Given the description of an element on the screen output the (x, y) to click on. 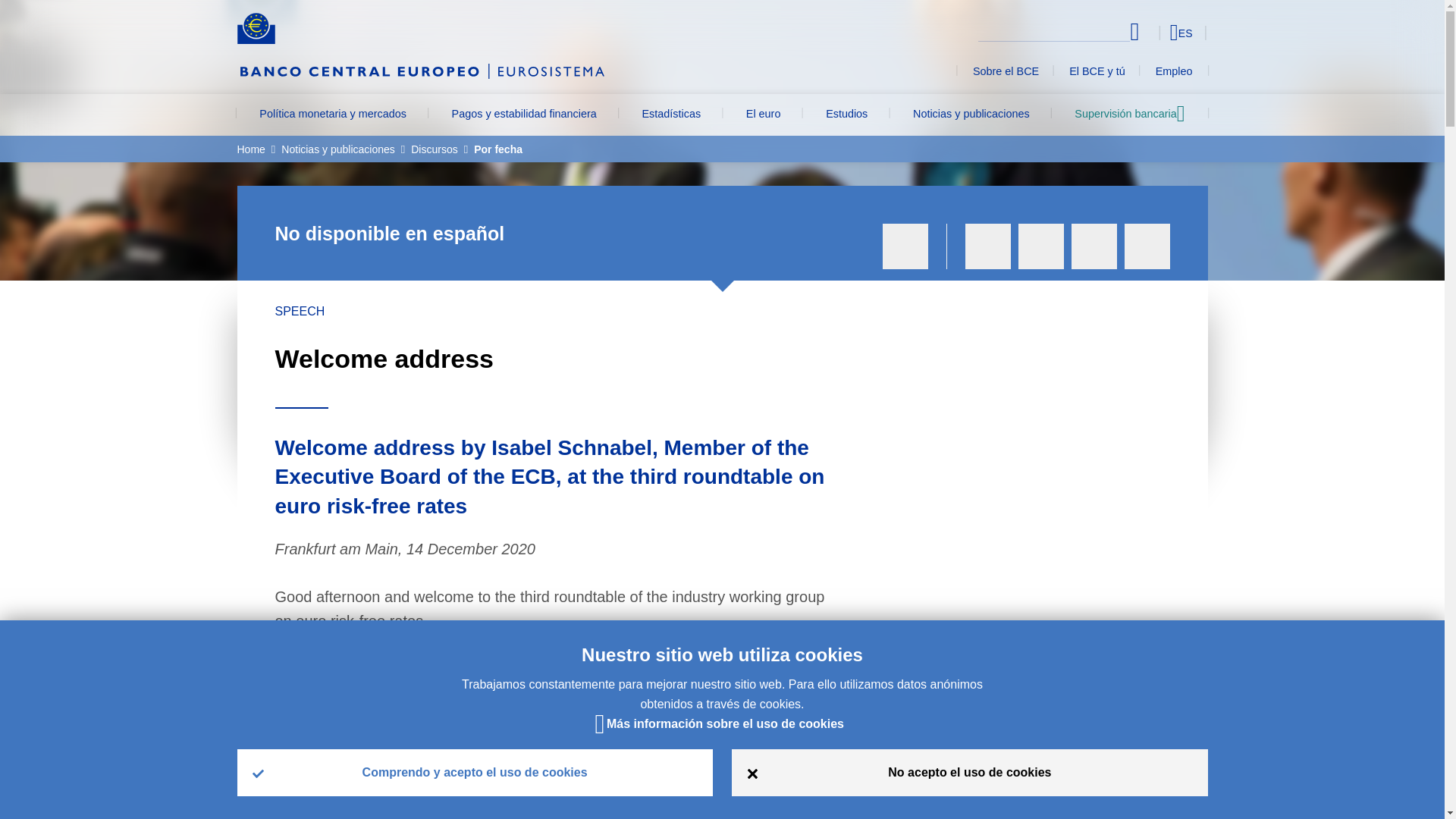
Select language (1153, 32)
